Given the description of an element on the screen output the (x, y) to click on. 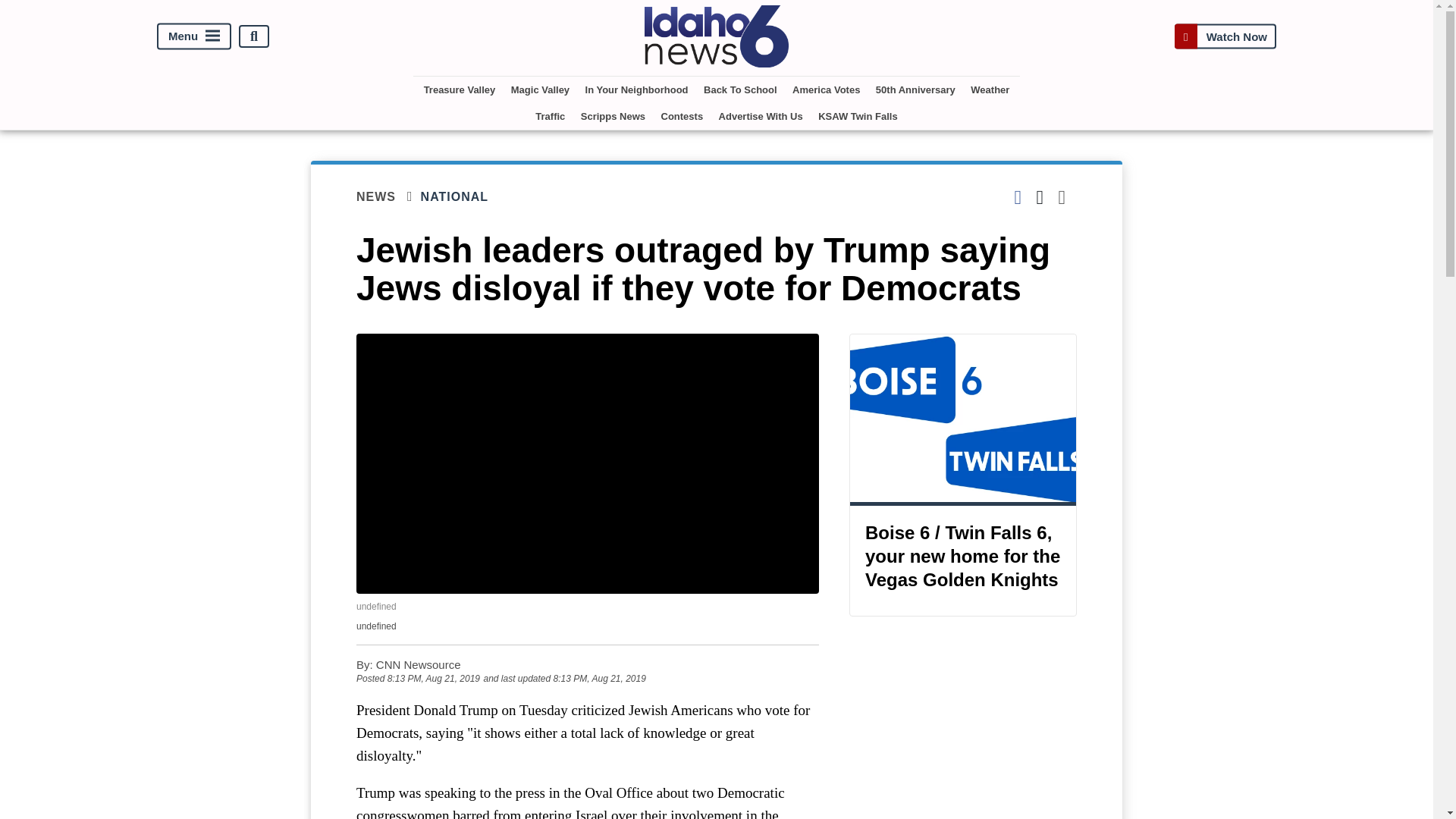
Menu (194, 36)
Watch Now (1224, 36)
